Given the description of an element on the screen output the (x, y) to click on. 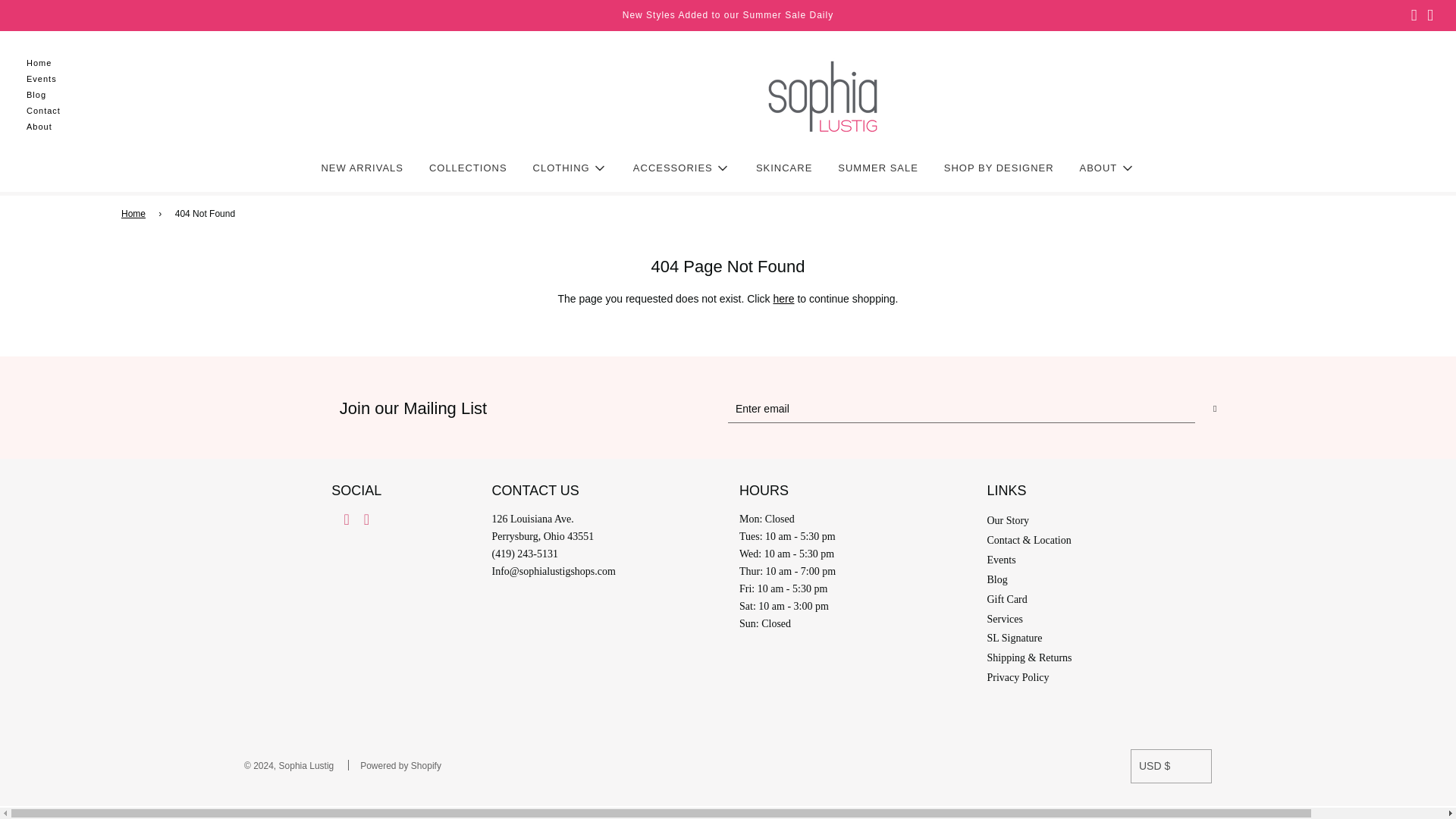
New Styles Added to our Summer Sale Daily (727, 15)
Join our Mailing List (727, 408)
Back to the frontpage (135, 214)
